Given the description of an element on the screen output the (x, y) to click on. 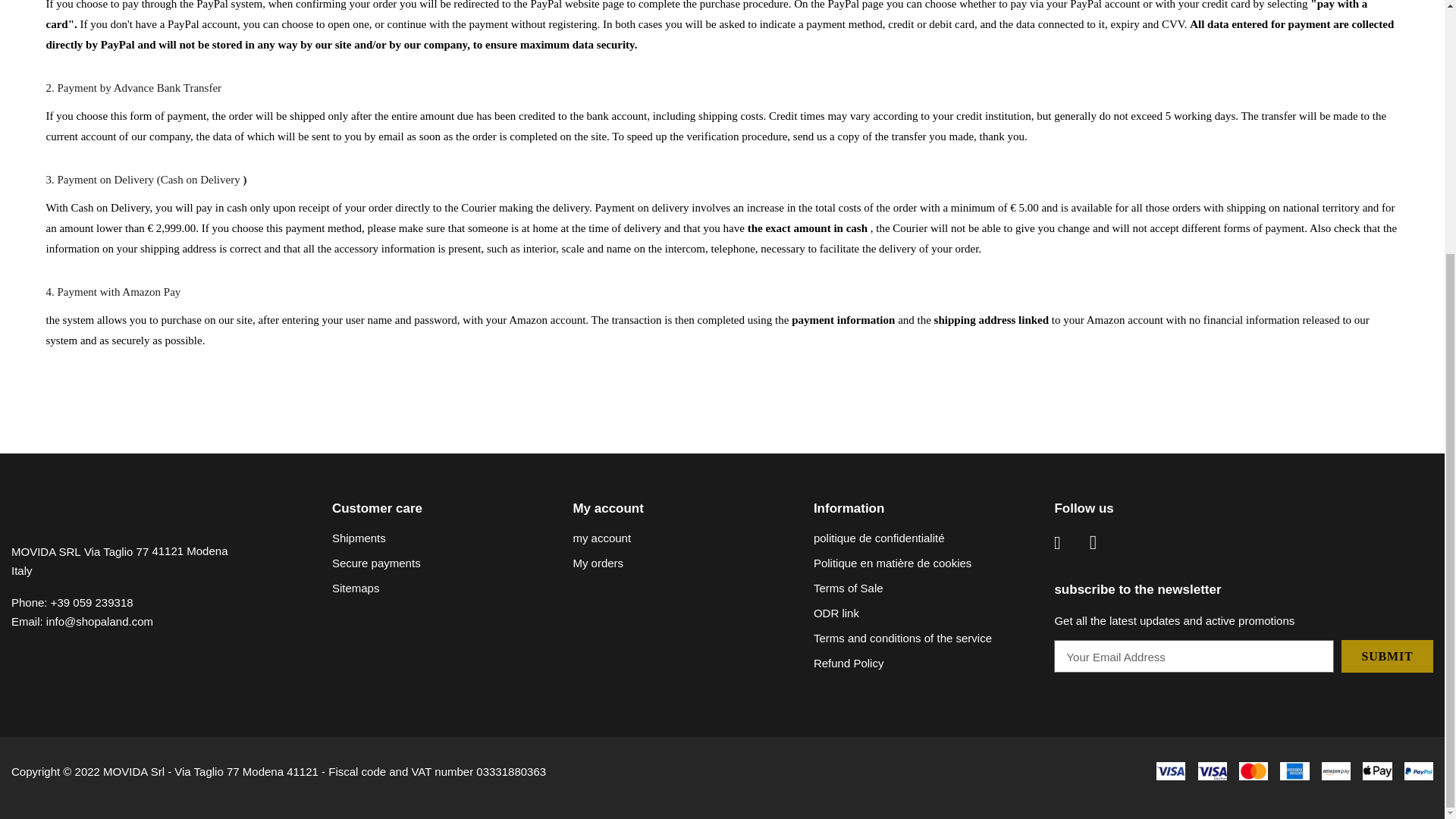
ODR link (836, 612)
My orders (597, 562)
Secure payments (375, 562)
Terms of Sale (848, 587)
Shipments (358, 537)
Shipments (358, 537)
Sitemaps (355, 587)
Secure payments (375, 562)
Terms and conditions of the service (902, 637)
my account (601, 537)
Submit (1386, 655)
